Given the description of an element on the screen output the (x, y) to click on. 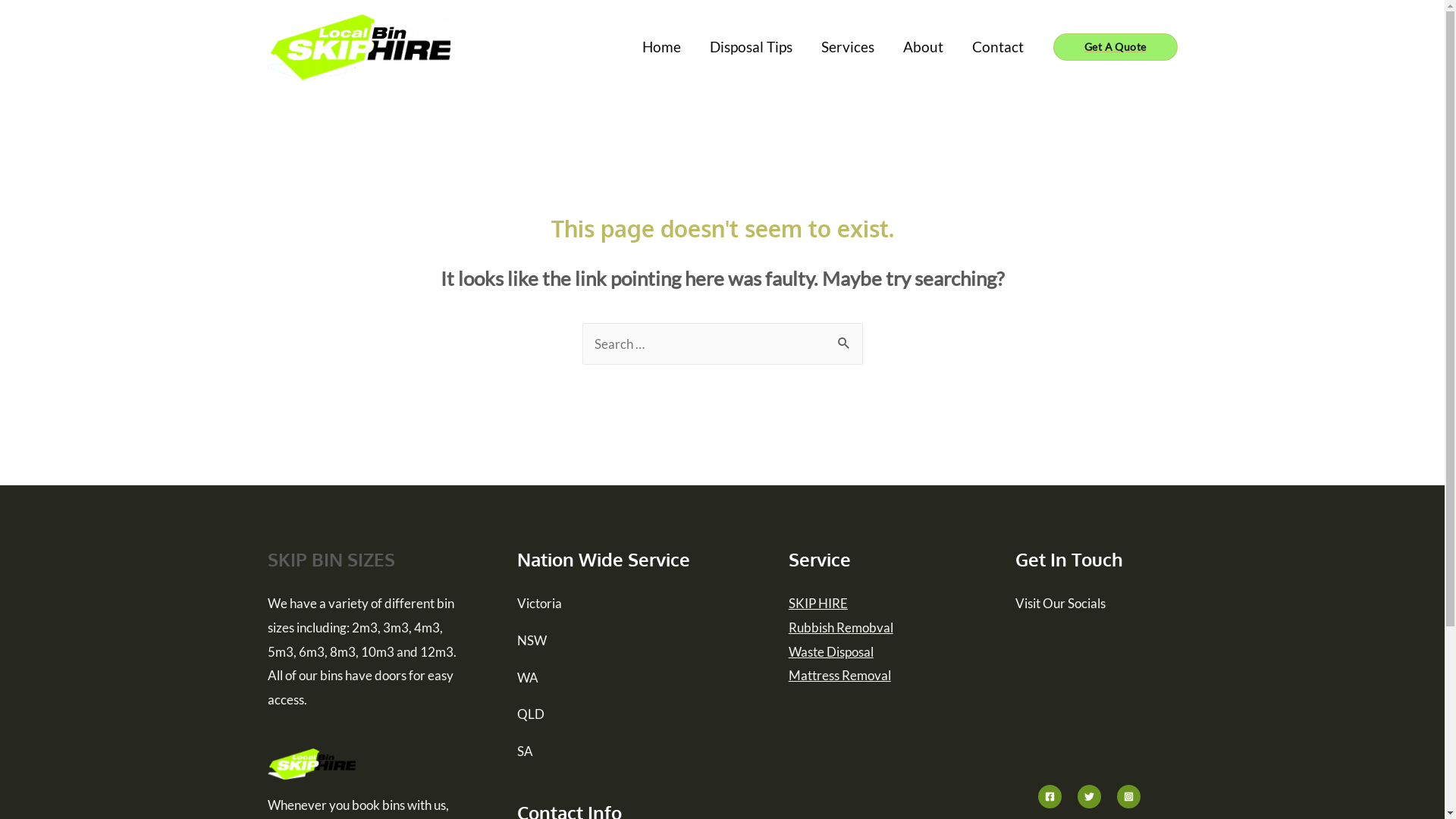
About Element type: text (922, 45)
Get A Quote Element type: text (1114, 46)
Home Element type: text (661, 45)
Contact Element type: text (997, 45)
Waste Disposal Element type: text (830, 650)
Services Element type: text (847, 45)
SKIP HIRE Element type: text (817, 603)
Mattress Removal Element type: text (839, 675)
Disposal Tips Element type: text (750, 45)
Search Element type: text (845, 338)
Rubbish Remobval Element type: text (840, 627)
